Given the description of an element on the screen output the (x, y) to click on. 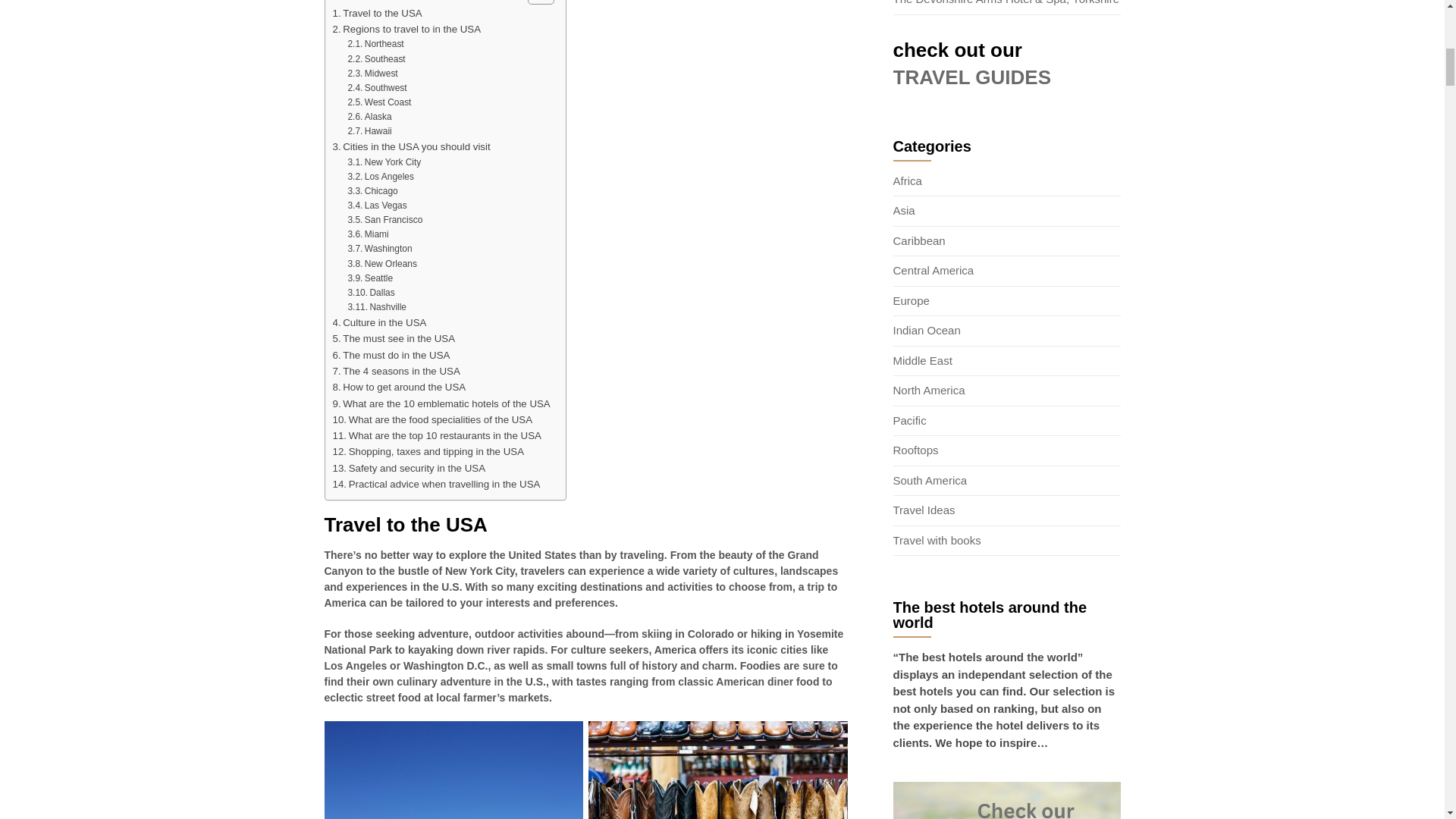
Northeast (375, 43)
Chicago (372, 191)
Northeast (375, 43)
Cities in the USA you should visit (410, 146)
Las Vegas (376, 205)
Hawaii (369, 131)
Las Vegas (376, 205)
The must see in the USA (392, 338)
Culture in the USA (378, 322)
West Coast (378, 102)
Seattle (370, 278)
Cities in the USA you should visit (410, 146)
Southwest (376, 88)
Miami (367, 234)
Los Angeles (380, 176)
